Given the description of an element on the screen output the (x, y) to click on. 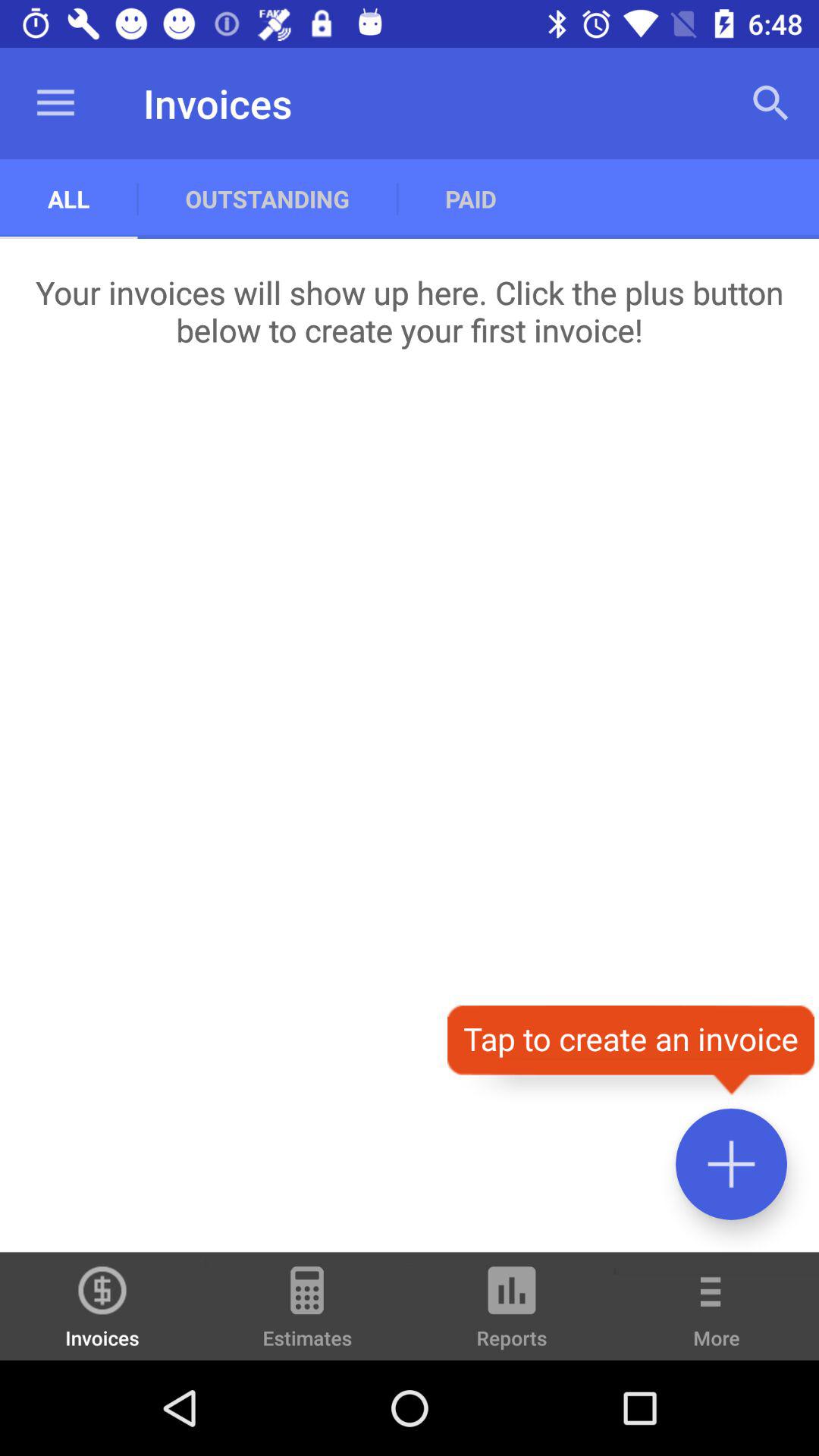
press the icon above the your invoices will item (267, 198)
